Given the description of an element on the screen output the (x, y) to click on. 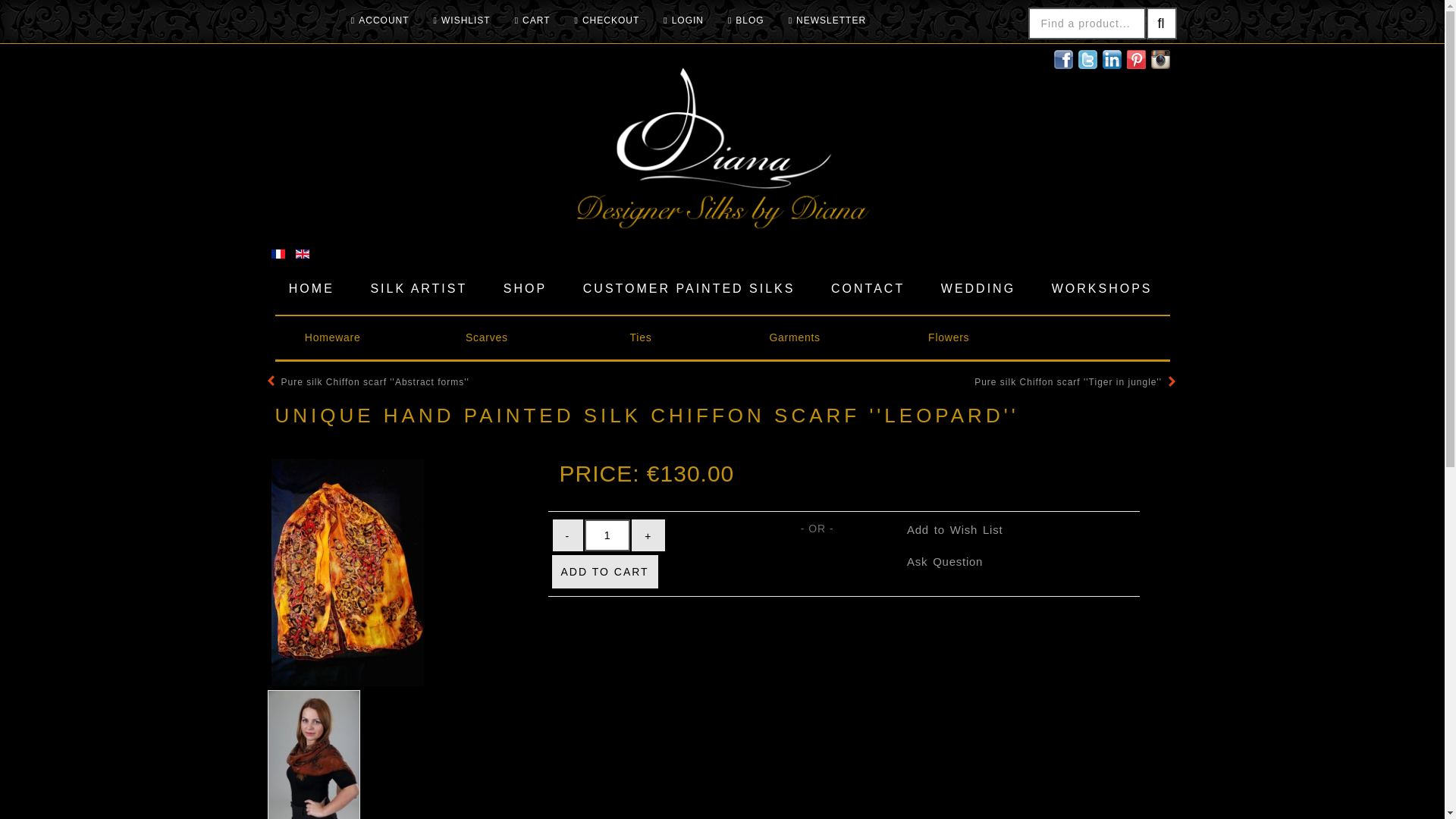
WEDDING (974, 287)
Scarves (486, 337)
HOME (308, 287)
LOGIN (683, 20)
SHOP (521, 287)
Unique hand painted silk Chiffon scarf ''Tiger in jungle''  (1074, 382)
WISHLIST (462, 20)
Pure silk Chiffon scarf ''Tiger in jungle'' (1074, 382)
Add to Wish List (955, 529)
Go to Pinterest account (1138, 57)
Flowers (948, 337)
Go to Pinterest account (1160, 57)
Homeware (332, 337)
CHECKOUT (607, 20)
ADD TO CART (604, 571)
